Given the description of an element on the screen output the (x, y) to click on. 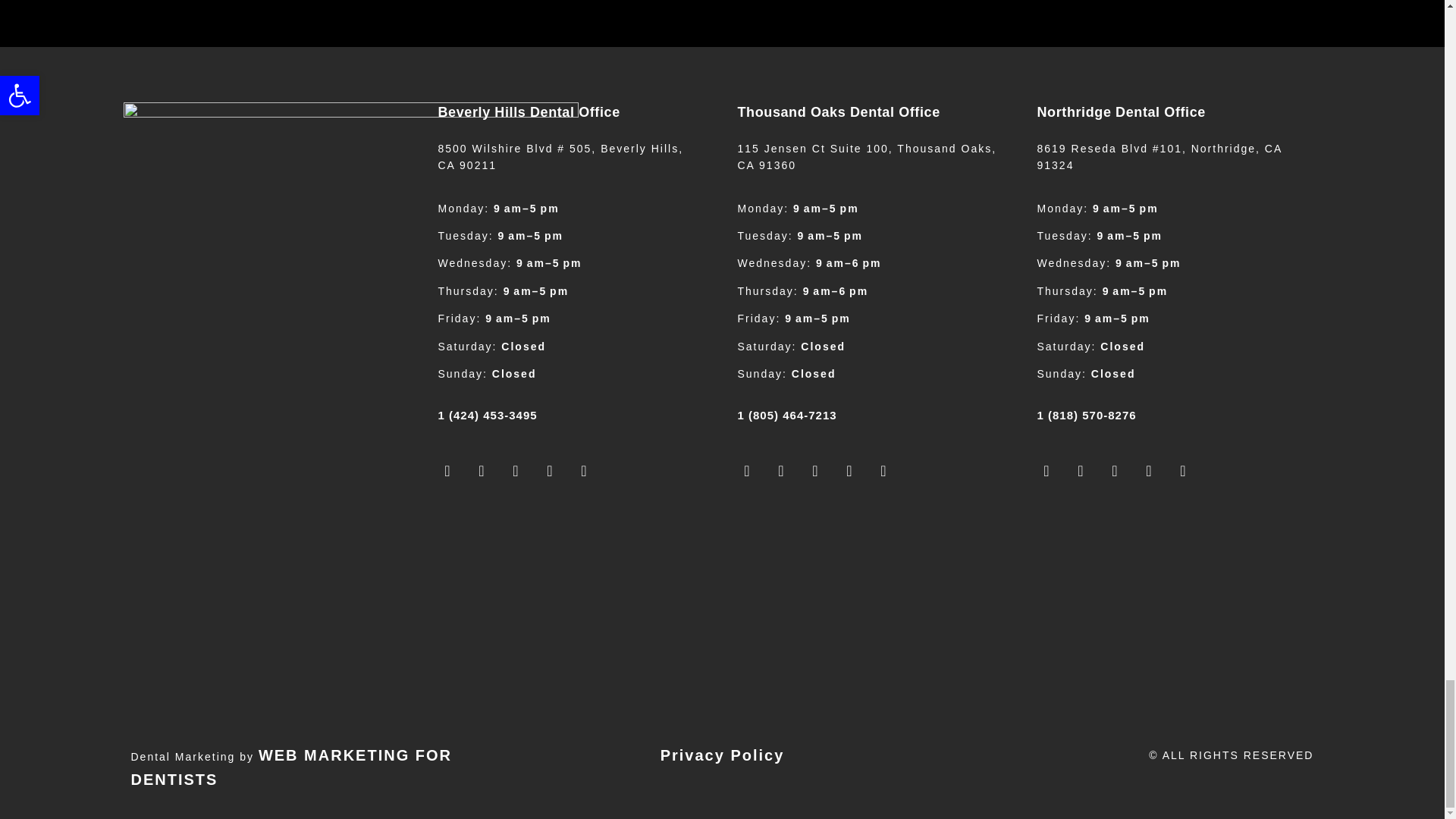
Smile Boutique Group, Thousand Oaks (871, 607)
Smile Boutique Group, Northridge (1171, 607)
Smile Boutique Group, Beverly Hills (570, 607)
